Given the description of an element on the screen output the (x, y) to click on. 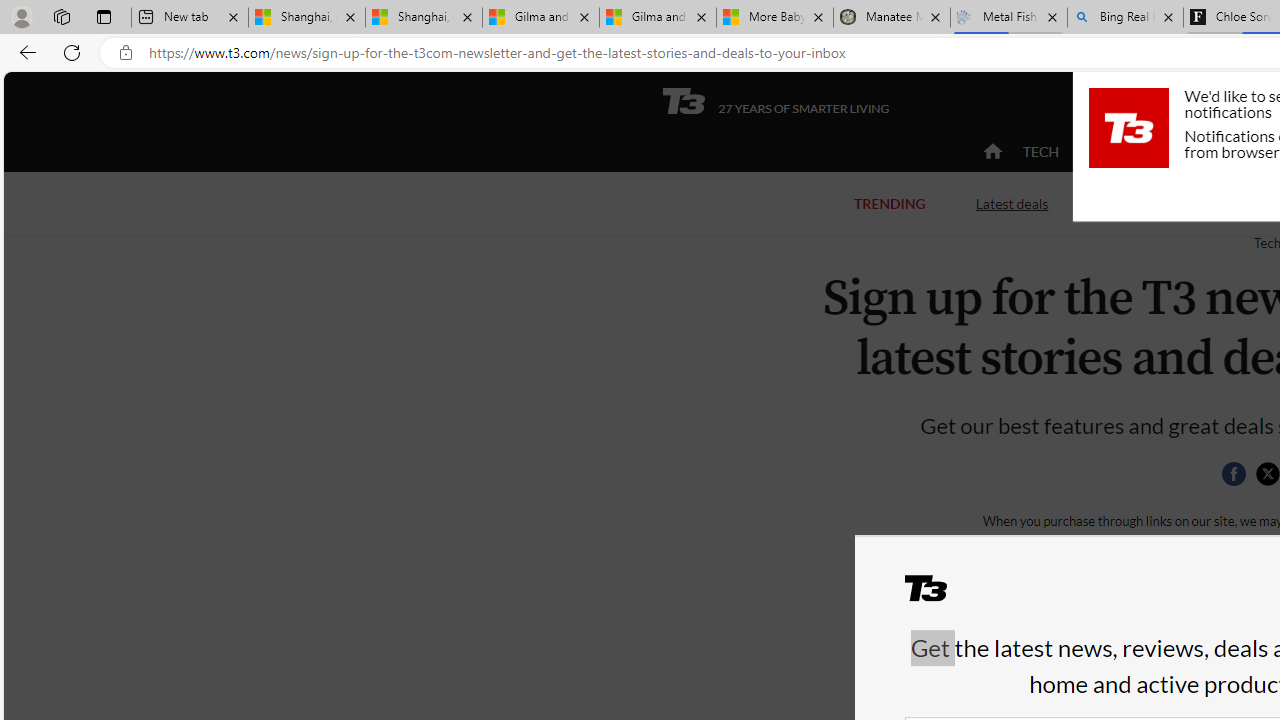
HOME LIVING (1233, 151)
Back to Class 2024 (1178, 202)
Gilma and Hector both pose tropical trouble for Hawaii (657, 17)
Manatee Mortality Statistics | FWC (891, 17)
Class: icon-svg (1267, 474)
Share this page on Facebook (1233, 474)
ACTIVE (1124, 151)
Class: social__item (1238, 477)
Back to Class 2024 (1178, 204)
Shanghai, China weather forecast | Microsoft Weather (424, 17)
Latest deals (1011, 202)
